Given the description of an element on the screen output the (x, y) to click on. 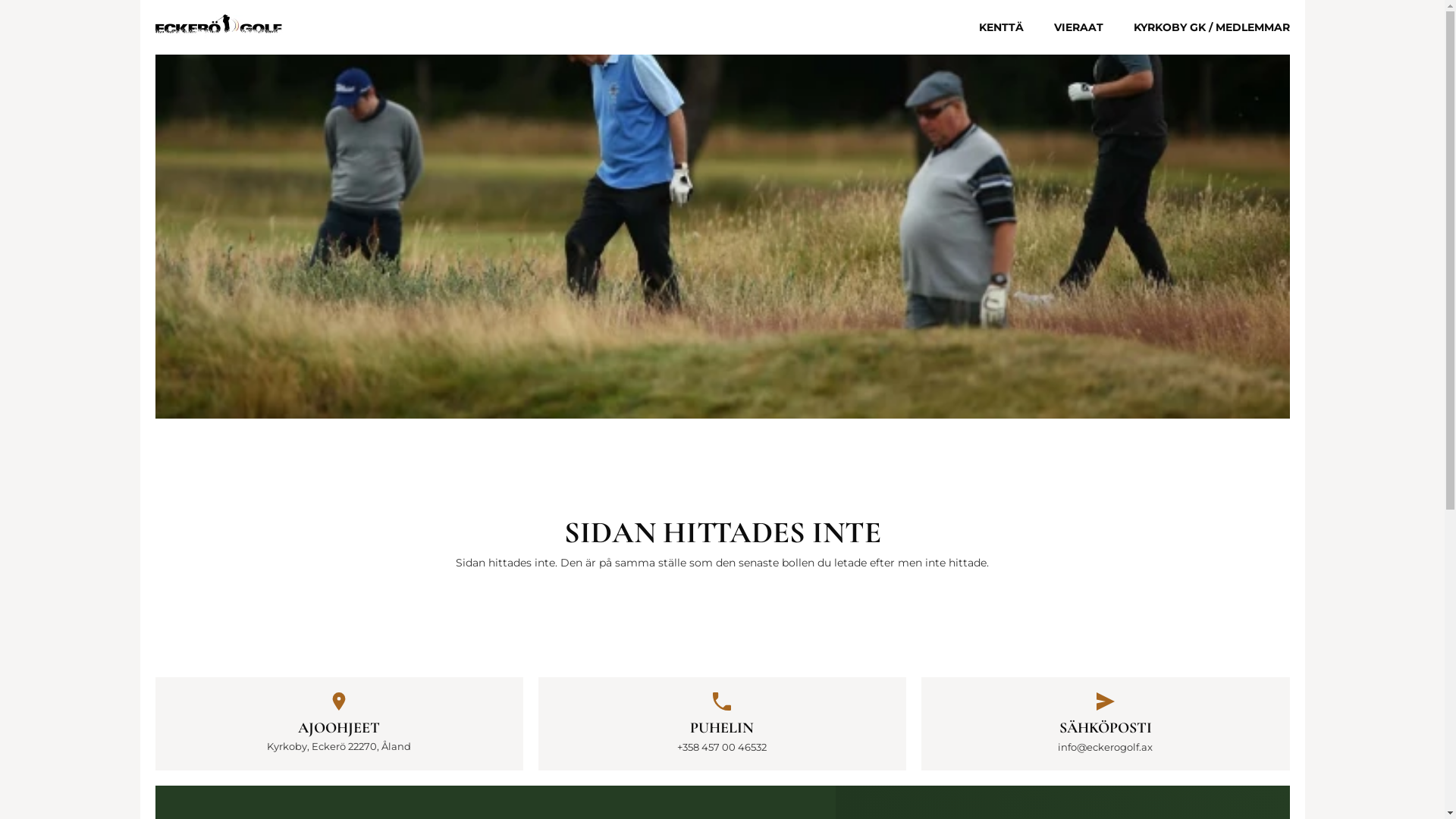
KYRKOBY GK / MEDLEMMAR Element type: text (1210, 27)
VIERAAT Element type: text (1078, 27)
PUHELIN
+358 457 00 46532 Element type: text (722, 723)
